Given the description of an element on the screen output the (x, y) to click on. 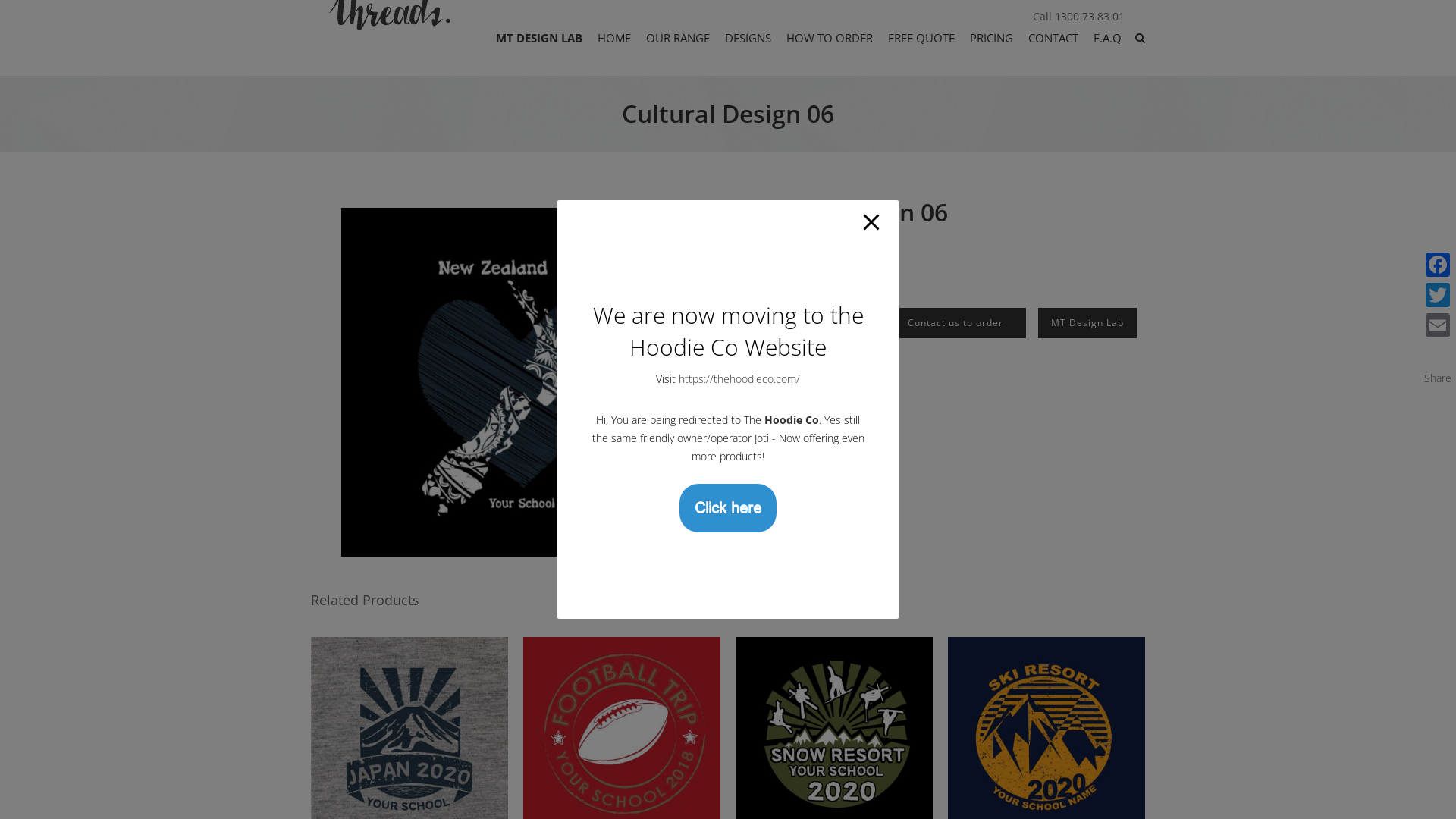
HOME Element type: text (613, 37)
F.A.Q Element type: text (1107, 37)
Facebook Element type: text (1437, 264)
PRICING Element type: text (991, 37)
Contact us to order Element type: text (955, 322)
CONTACT Element type: text (1052, 37)
MT Design Lab Element type: text (1087, 322)
FREE QUOTE Element type: text (921, 37)
Twitter Element type: text (1437, 294)
MT DESIGN LAB Element type: text (538, 37)
https://thehoodieco.com/ Element type: text (739, 378)
OUR RANGE Element type: text (677, 37)
Search Element type: text (345, 51)
Click here Element type: text (727, 509)
cultural-06 Element type: hover (515, 381)
Email Element type: text (1437, 325)
DESIGNS Element type: text (747, 37)
Click here Element type: text (727, 507)
Hoodie Co Element type: text (791, 419)
HOW TO ORDER Element type: text (829, 37)
Choose your garment Element type: text (807, 322)
